Given the description of an element on the screen output the (x, y) to click on. 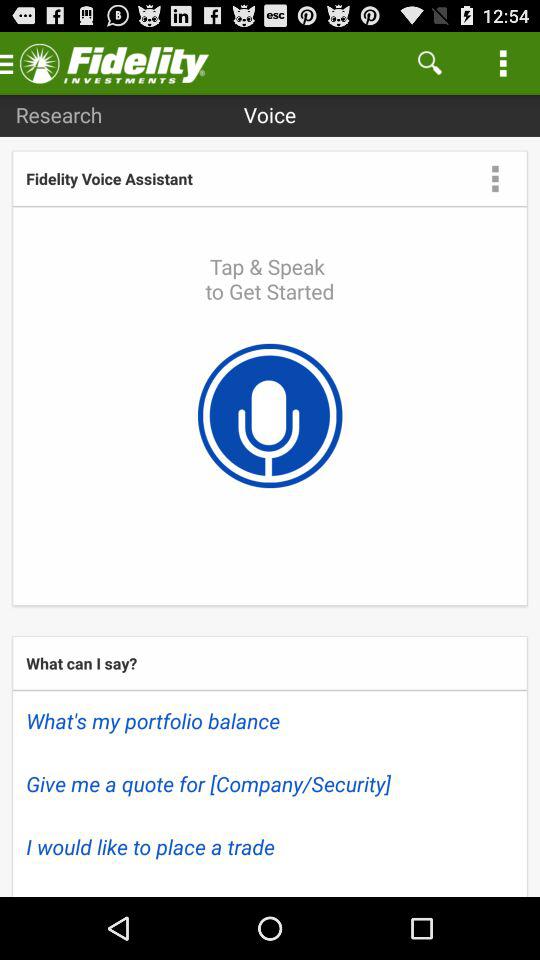
select the icon next to voice item (429, 62)
